Given the description of an element on the screen output the (x, y) to click on. 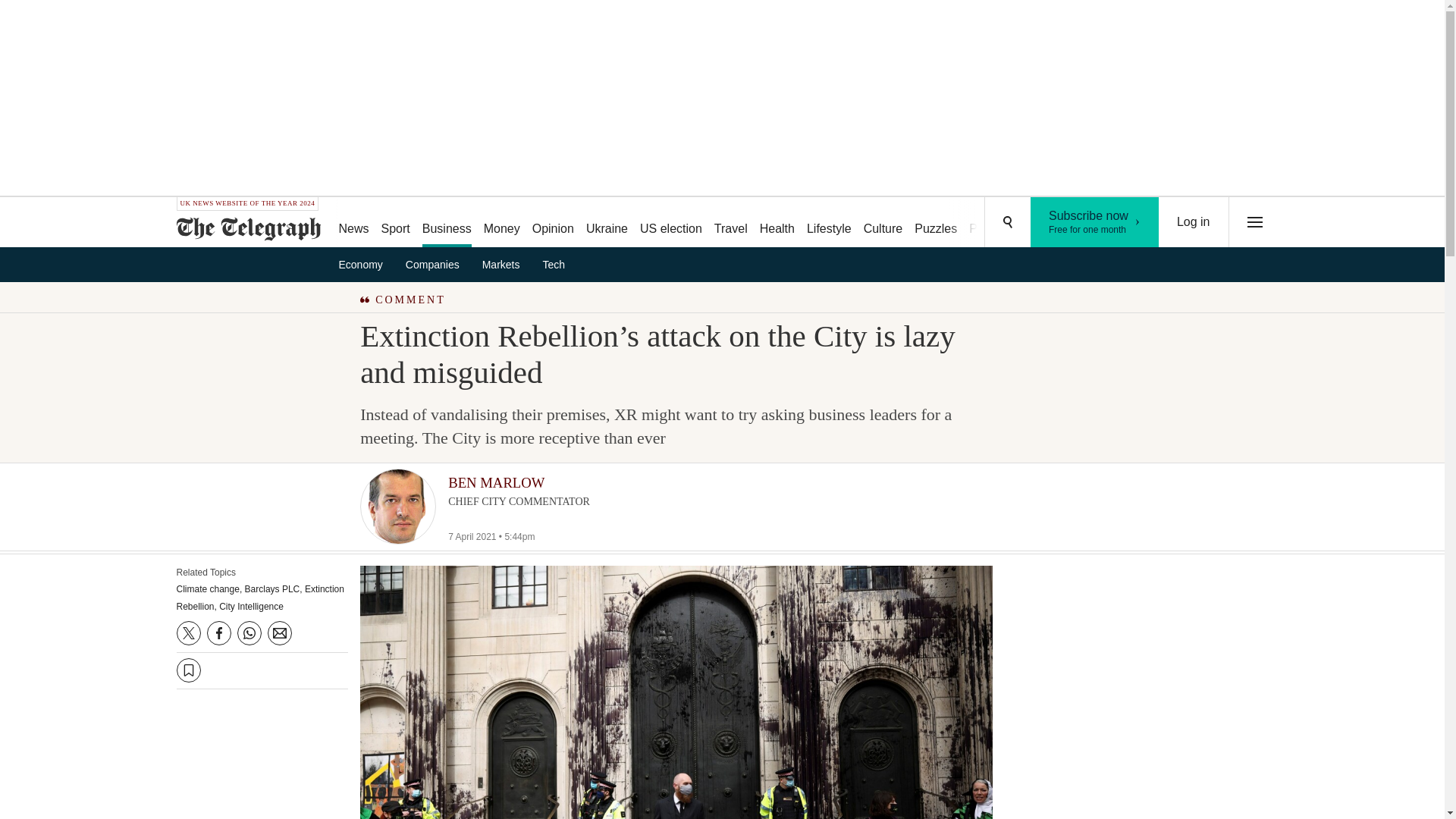
Opinion (552, 223)
Health (777, 223)
Culture (882, 223)
Economy (364, 264)
Money (501, 223)
Travel (730, 223)
Lifestyle (1094, 222)
Log in (828, 223)
Companies (1193, 222)
